Given the description of an element on the screen output the (x, y) to click on. 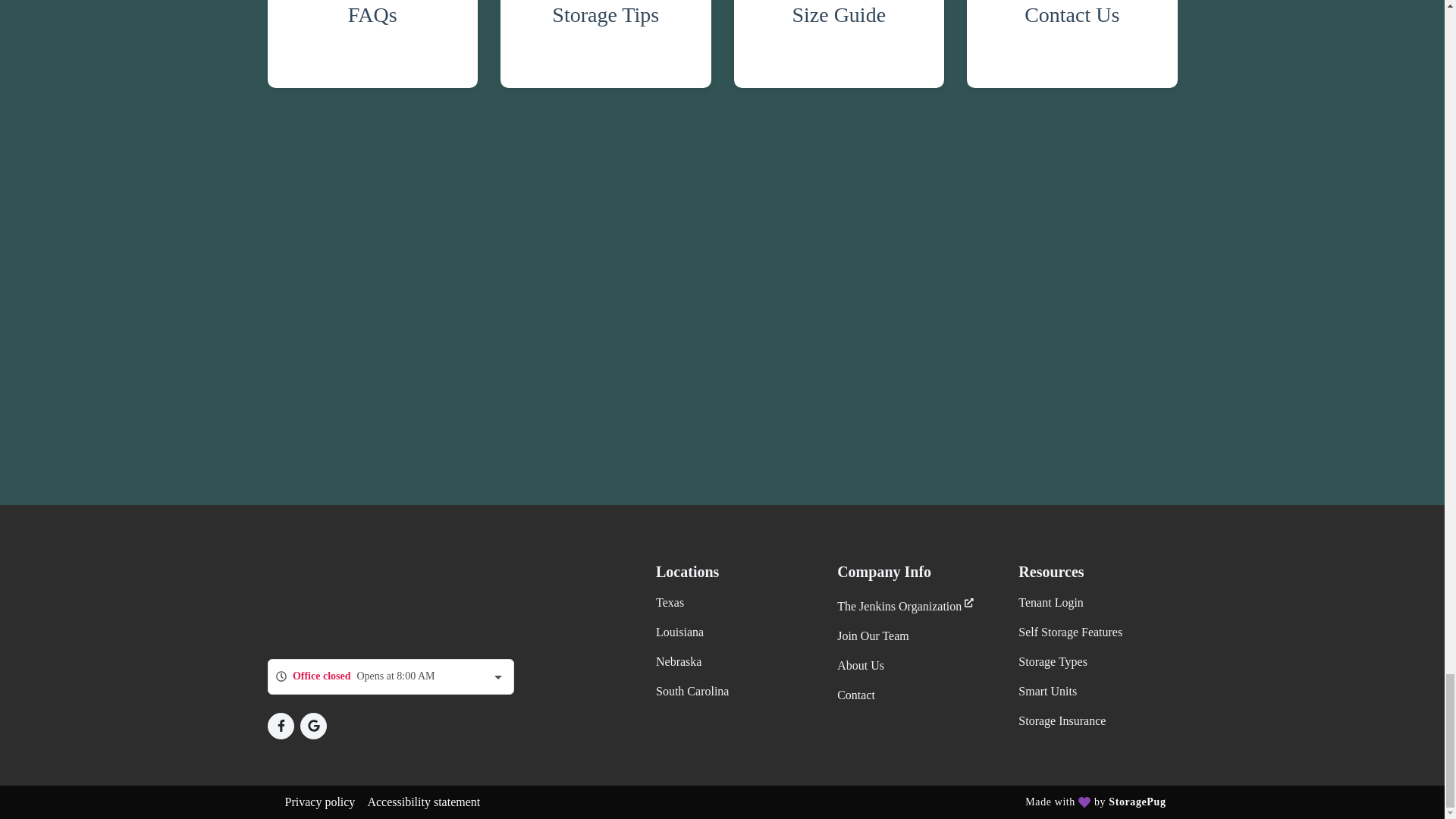
Storage Tips (605, 43)
The Jenkins Organization (905, 605)
Website designed and built by StoragePug. (1137, 801)
Premium Spaces (352, 599)
Texas (670, 602)
Join Our Team (872, 635)
About Us (860, 665)
FAQs (371, 43)
Louisiana (679, 631)
South Carolina (692, 690)
Nebraska (678, 661)
Contact Us (1071, 43)
Size Guide (838, 43)
